Given the description of an element on the screen output the (x, y) to click on. 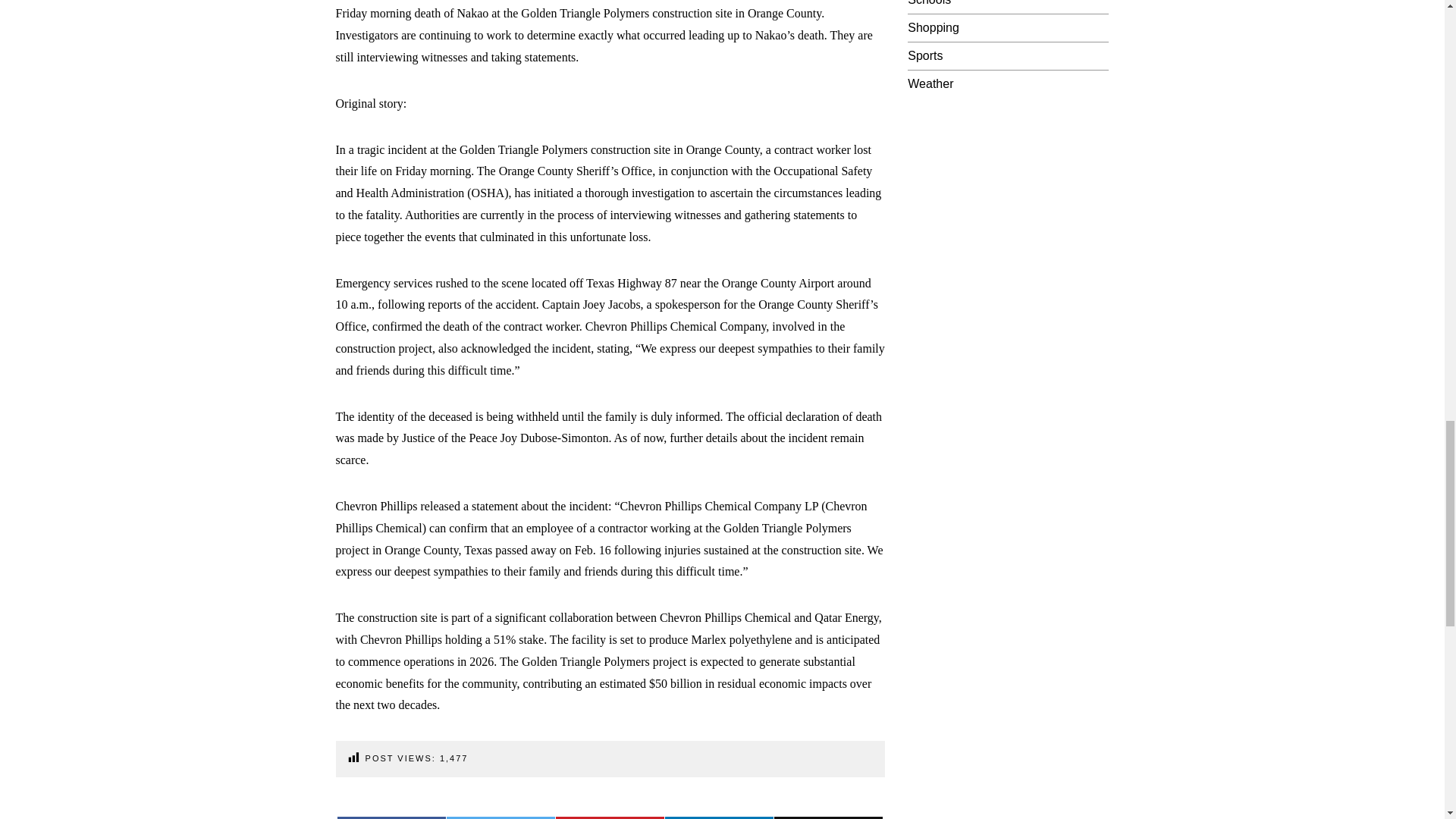
LINKEDIN (719, 817)
Email (828, 817)
Pinterest (609, 817)
Weather (930, 83)
FACEBOOK (391, 817)
Linkedin (719, 817)
PINTEREST (609, 817)
Sports (924, 55)
Facebook (391, 817)
Twitter (500, 817)
